Given the description of an element on the screen output the (x, y) to click on. 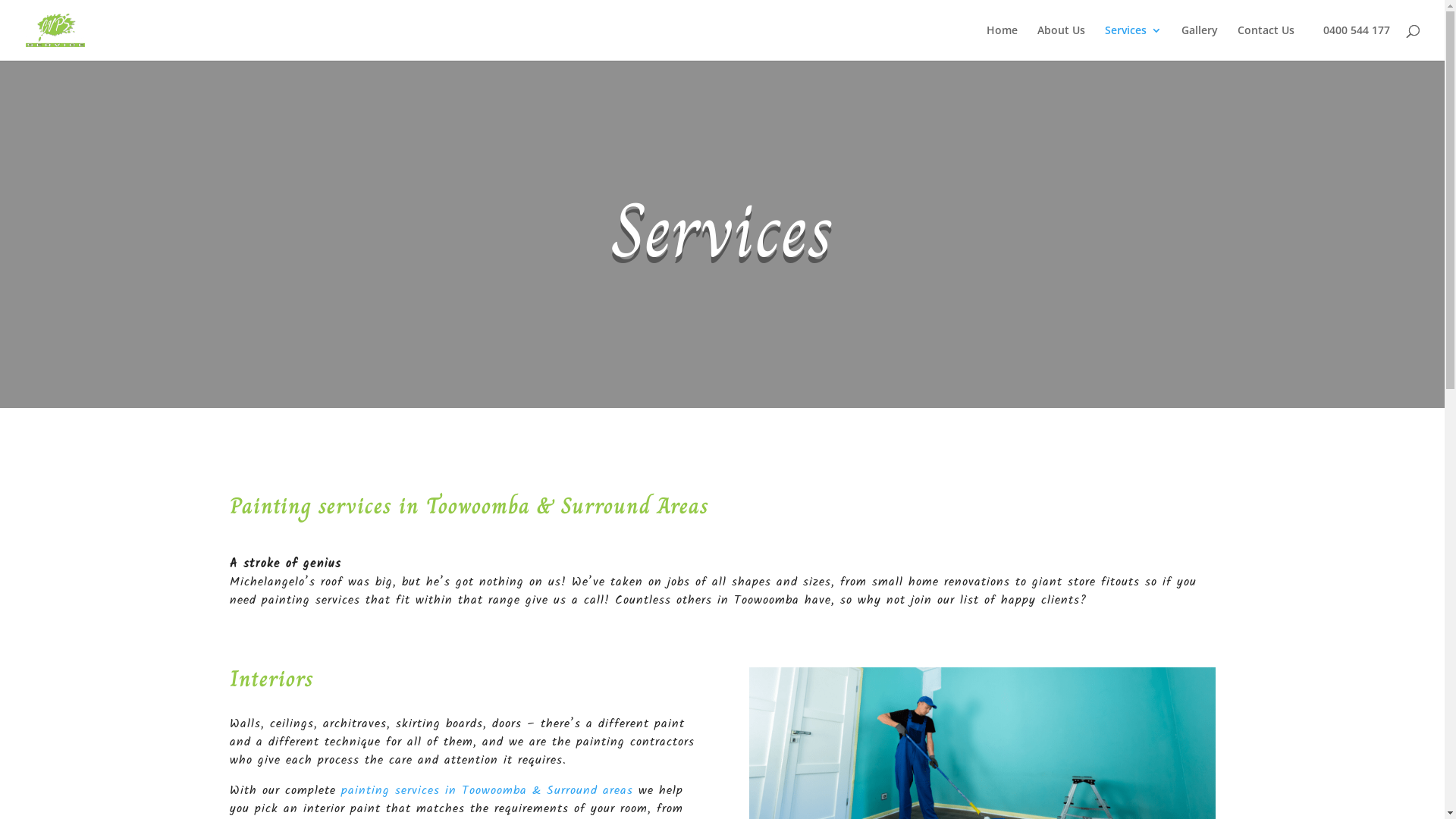
Services Element type: text (1132, 42)
About Us Element type: text (1061, 42)
painting services in Toowoomba & Surround areas Element type: text (487, 790)
Home Element type: text (1001, 42)
Gallery Element type: text (1199, 42)
Contact Us Element type: text (1265, 42)
